Given the description of an element on the screen output the (x, y) to click on. 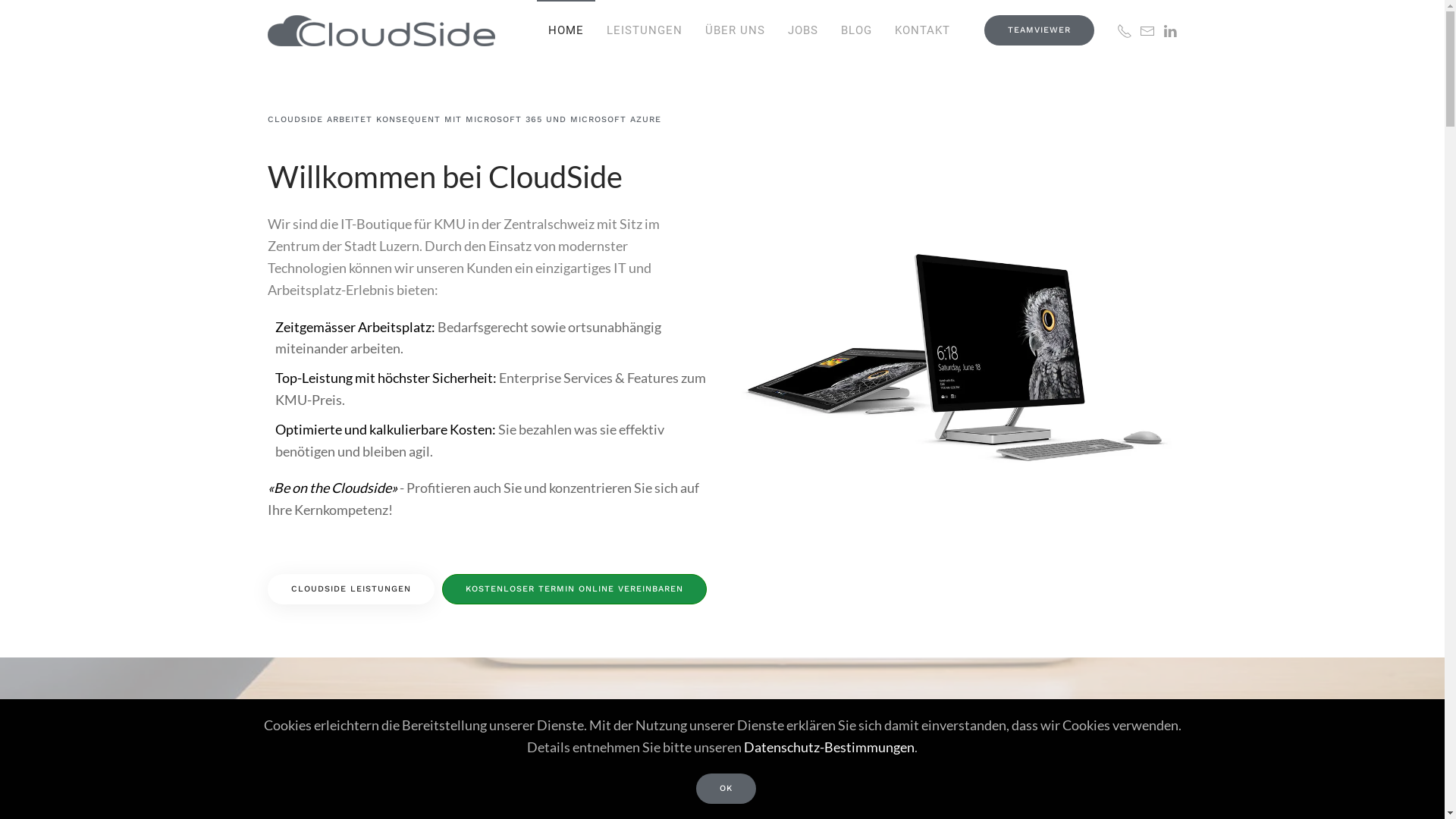
LEISTUNGEN Element type: text (643, 30)
KOSTENLOSER TERMIN ONLINE VEREINBAREN Element type: text (573, 589)
OK Element type: text (726, 788)
BLOG Element type: text (856, 30)
TEAMVIEWER Element type: text (1039, 30)
HOME Element type: text (565, 30)
JOBS Element type: text (802, 30)
CLOUDSIDE LEISTUNGEN Element type: text (349, 589)
KONTAKT Element type: text (921, 30)
Datenschutz-Bestimmungen Element type: text (828, 746)
